Given the description of an element on the screen output the (x, y) to click on. 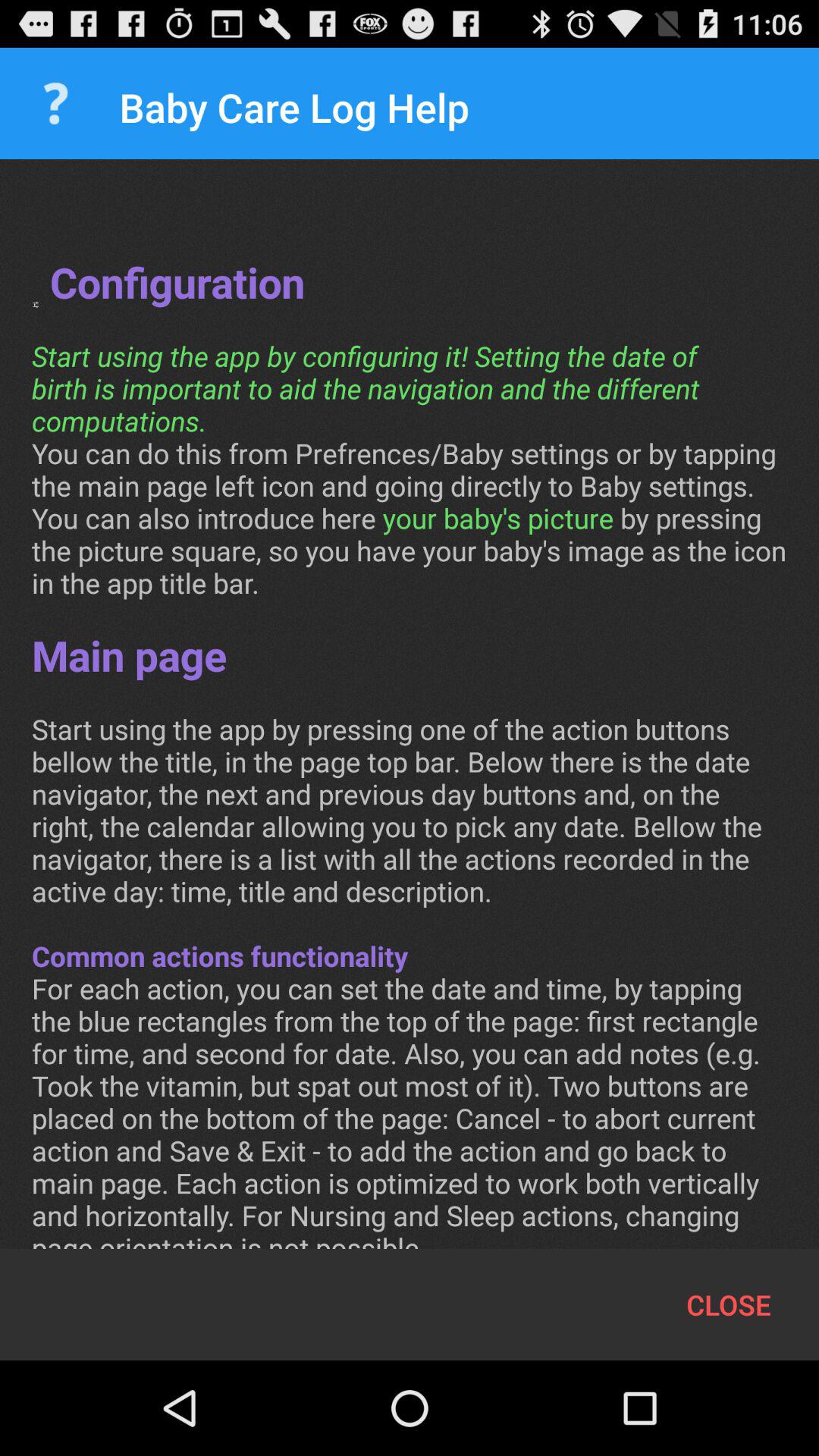
open close item (728, 1304)
